Given the description of an element on the screen output the (x, y) to click on. 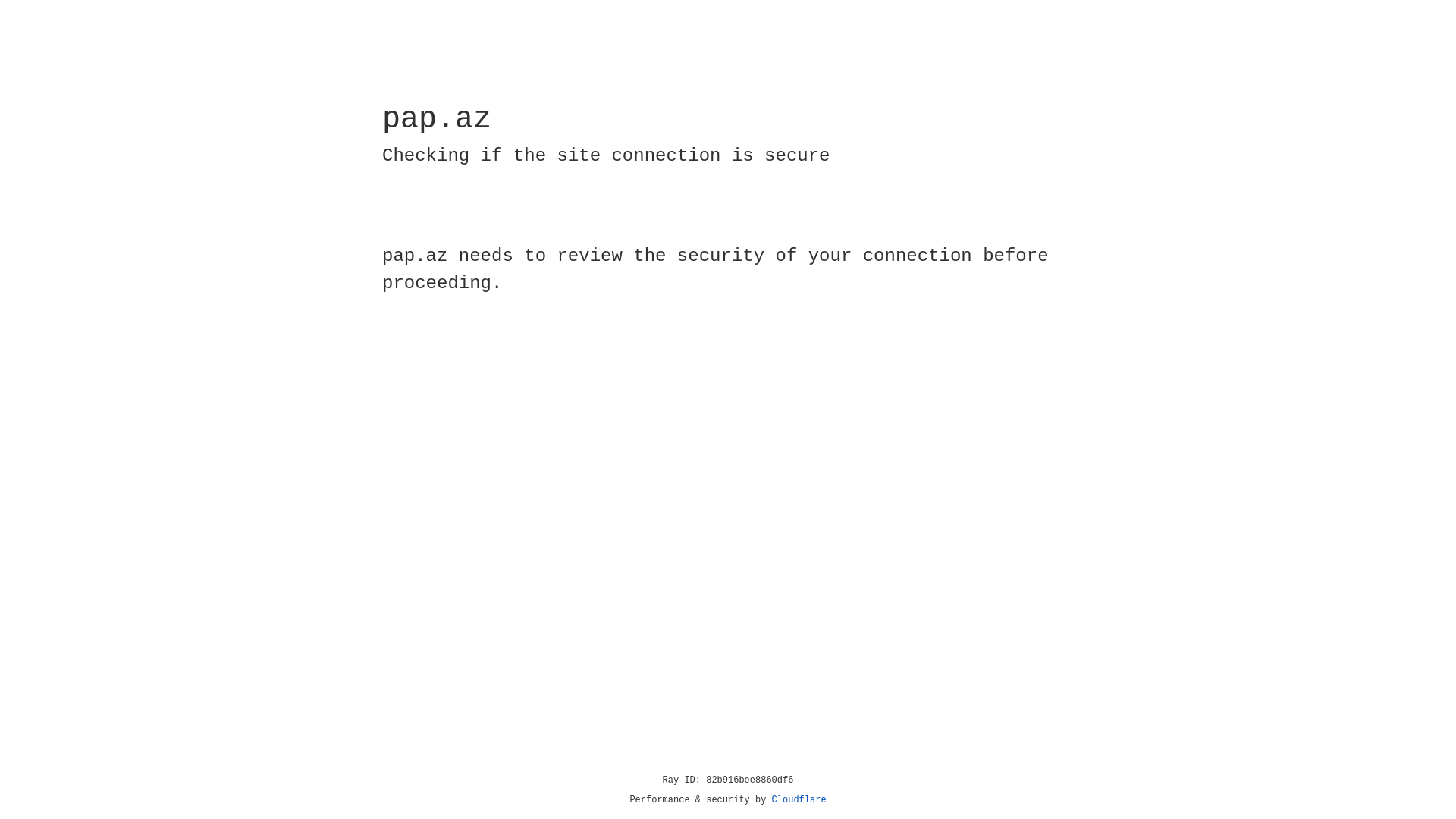
Cloudflare Element type: text (798, 799)
